Given the description of an element on the screen output the (x, y) to click on. 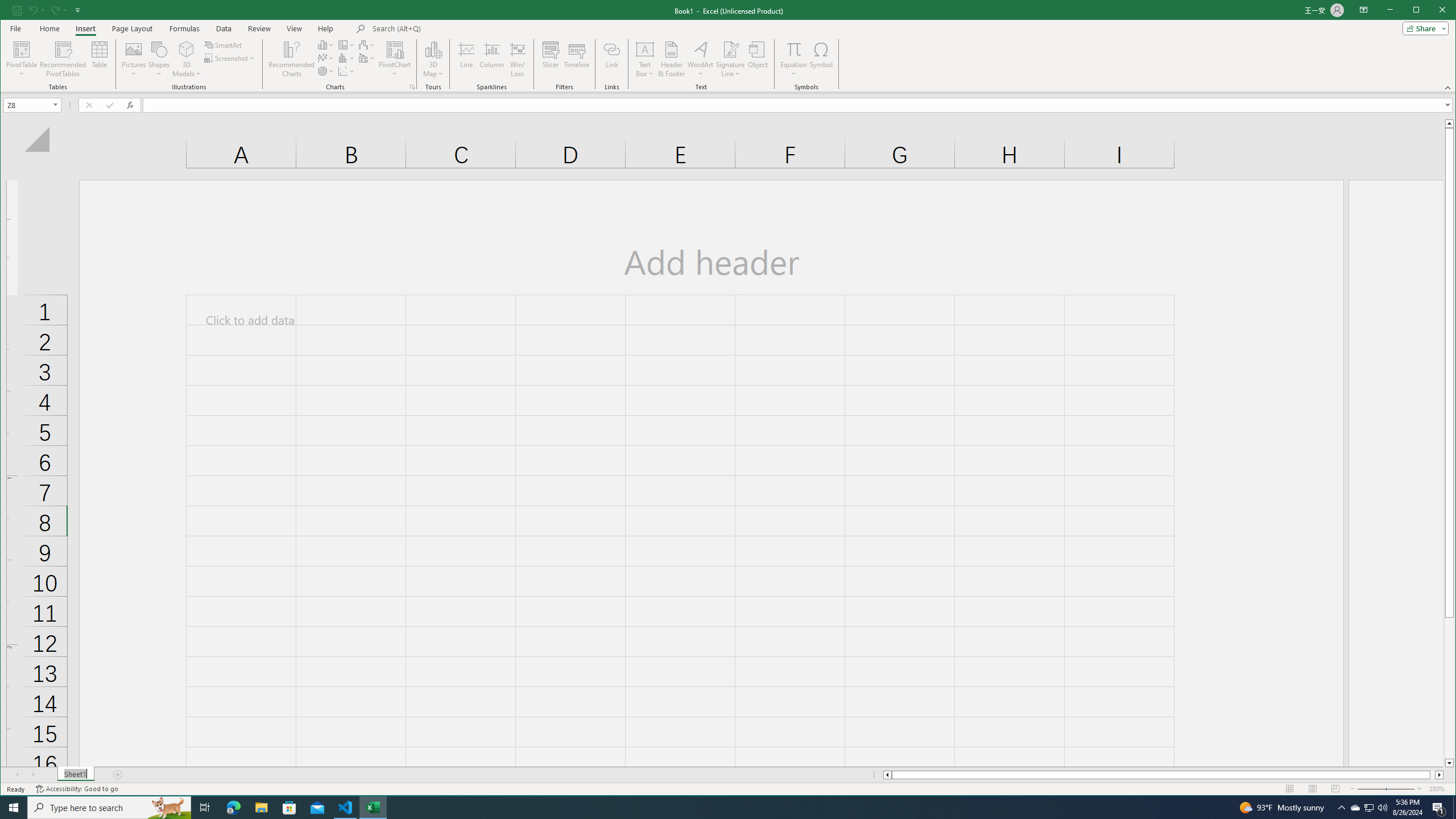
SmartArt... (224, 44)
3D Map (432, 59)
Symbol... (821, 59)
Insert Hierarchy Chart (346, 44)
File Explorer (261, 807)
Insert Waterfall, Funnel, Stock, Surface, or Radar Chart (366, 44)
Excel - 1 running window (373, 807)
Formula Bar (799, 104)
Signature Line (729, 48)
Running applications (717, 807)
